Given the description of an element on the screen output the (x, y) to click on. 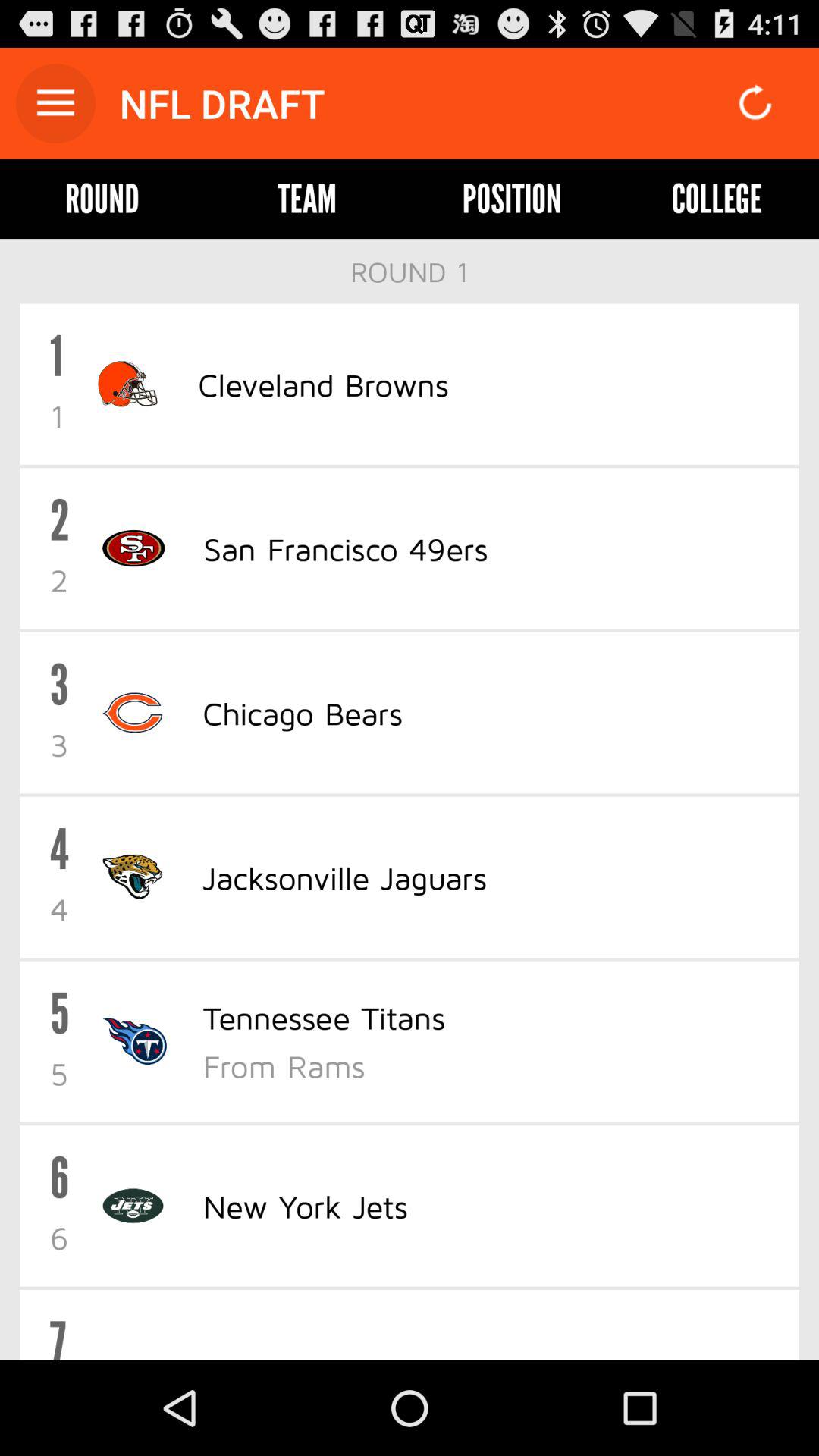
launch chicago bears icon (302, 712)
